Given the description of an element on the screen output the (x, y) to click on. 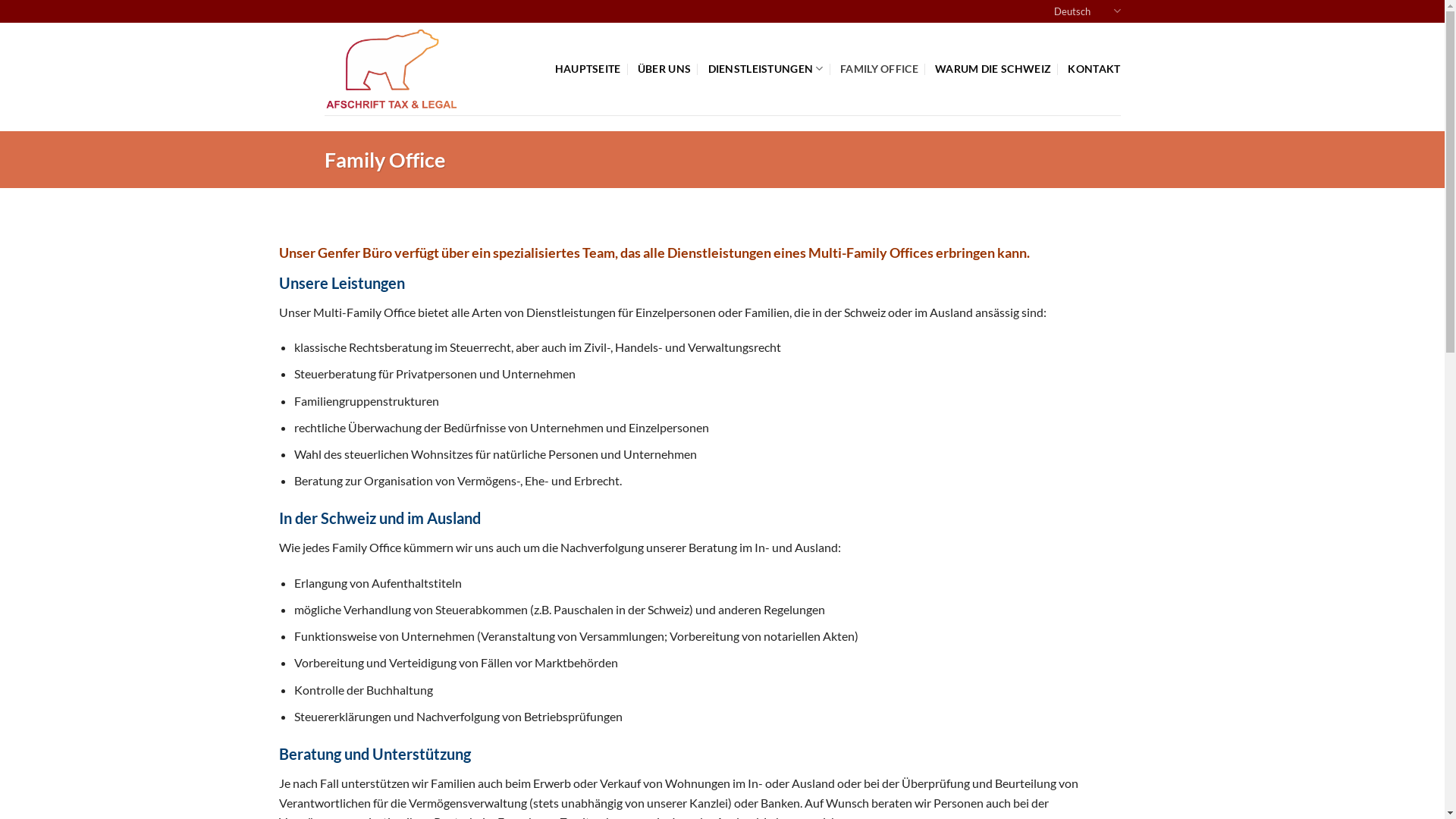
KONTAKT Element type: text (1093, 68)
DIENSTLEISTUNGEN Element type: text (765, 68)
HAUPTSEITE Element type: text (588, 68)
Afschrift Tax & Legal - Cabinet d'avocats fiscalistes Element type: hover (394, 68)
Deutsch Element type: text (1087, 10)
WARUM DIE SCHWEIZ Element type: text (993, 68)
FAMILY OFFICE Element type: text (879, 68)
